Given the description of an element on the screen output the (x, y) to click on. 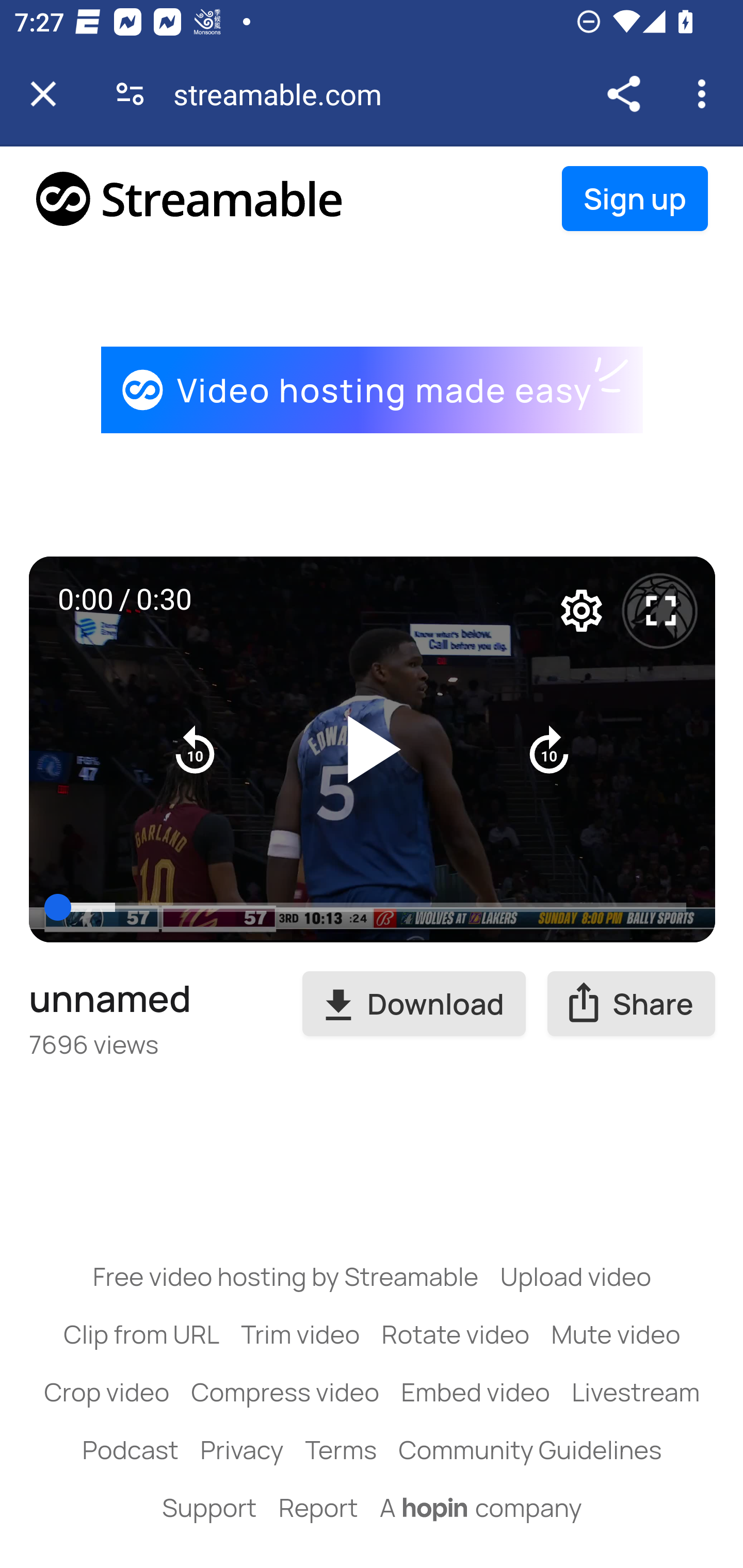
Close tab (43, 93)
Share (623, 93)
Customize and control Google Chrome (705, 93)
Connection is secure (129, 93)
streamable.com (284, 93)
Sign up (634, 199)
Streamable Logo (189, 198)
Options (o) (581, 610)
Full screen (f) (662, 610)
Play (k) (372, 749)
Seek back (j) (195, 748)
Seek forward (l) (549, 748)
download Download (414, 1004)
ios_share Share (631, 1004)
Free video hosting by Streamable (286, 1275)
Upload video (574, 1275)
Clip from URL (141, 1333)
Trim video (300, 1333)
Rotate video (455, 1333)
Mute video (615, 1333)
Crop video (107, 1391)
Compress video (284, 1391)
Embed video (475, 1391)
Livestream (635, 1391)
Podcast (130, 1449)
Privacy (241, 1449)
Terms (340, 1449)
Community Guidelines (529, 1449)
Support (208, 1507)
Report (317, 1507)
A company A company (480, 1507)
